Given the description of an element on the screen output the (x, y) to click on. 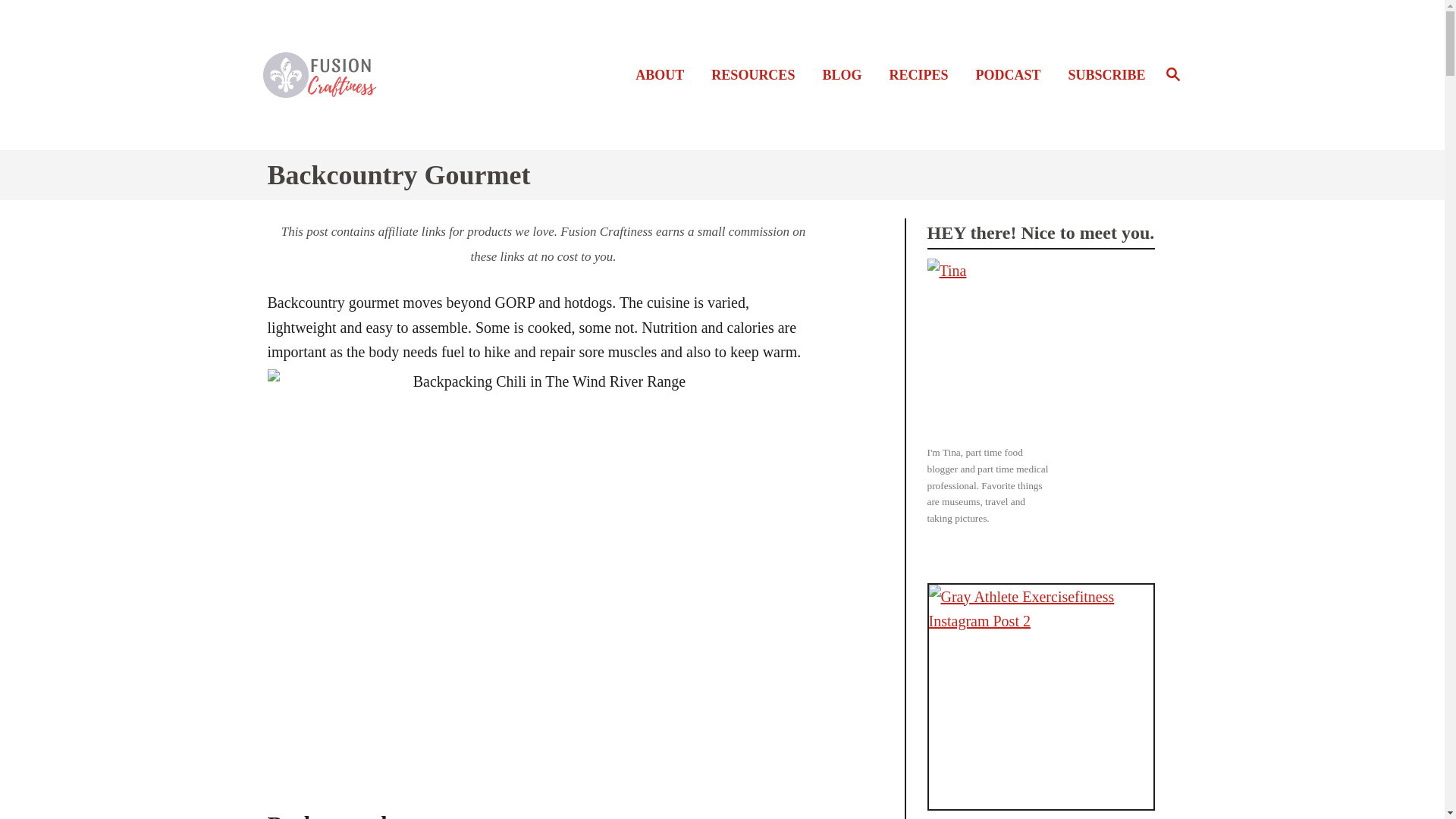
SUBSCRIBE (1101, 75)
ABOUT (663, 75)
Magnifying Glass (1171, 75)
PODCAST (1171, 74)
RESOURCES (1012, 75)
RECIPES (756, 75)
fusion craftiness (922, 75)
BLOG (371, 74)
